Given the description of an element on the screen output the (x, y) to click on. 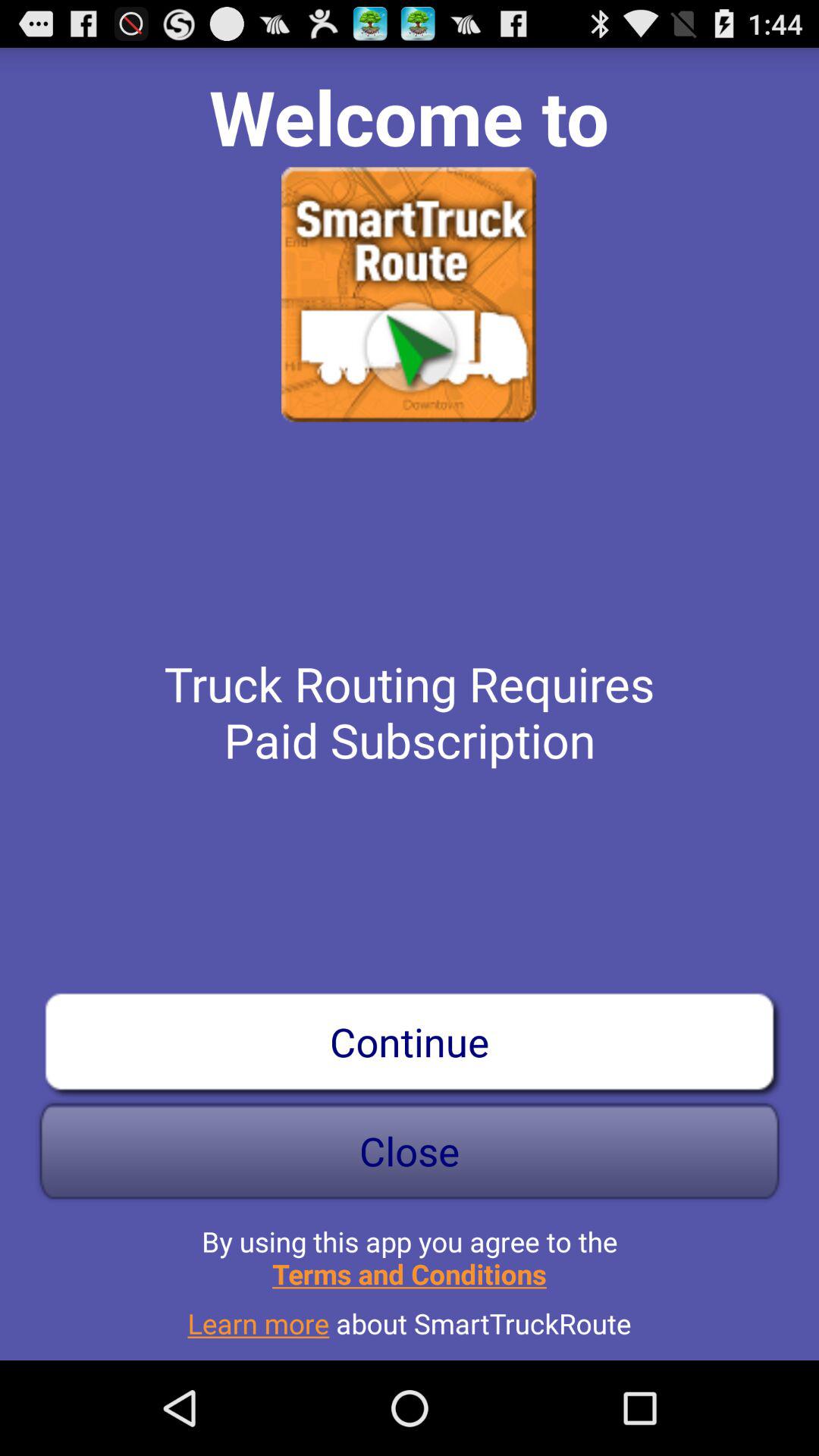
press item above close icon (409, 1041)
